Given the description of an element on the screen output the (x, y) to click on. 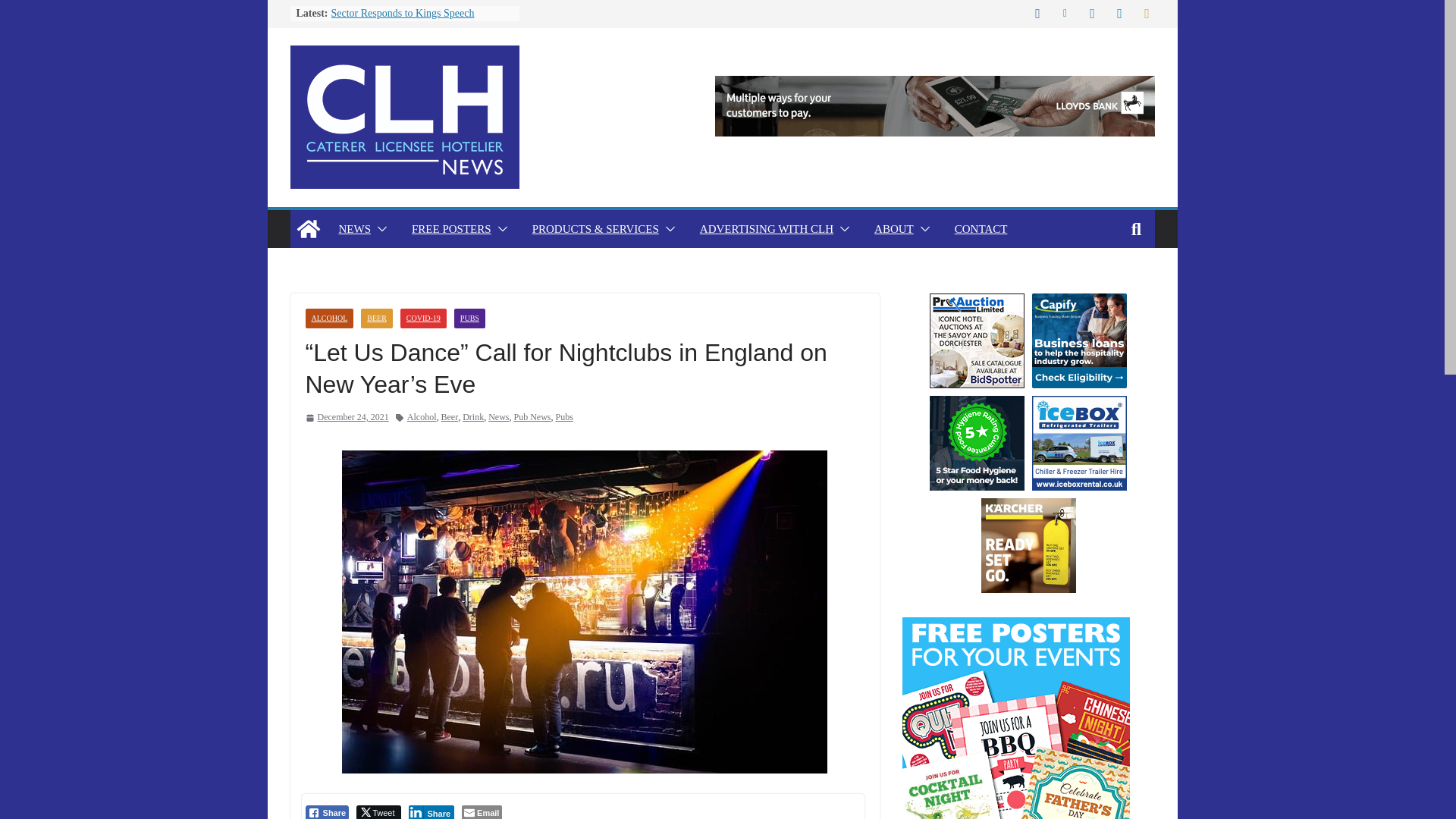
Sector Responds to Kings Speech (402, 12)
NEWS (354, 228)
Sector Responds to Kings Speech (402, 12)
CLH News: Caterer, Licensee and Hotelier News (307, 228)
FREE POSTERS (452, 228)
1:07 pm (346, 417)
